Given the description of an element on the screen output the (x, y) to click on. 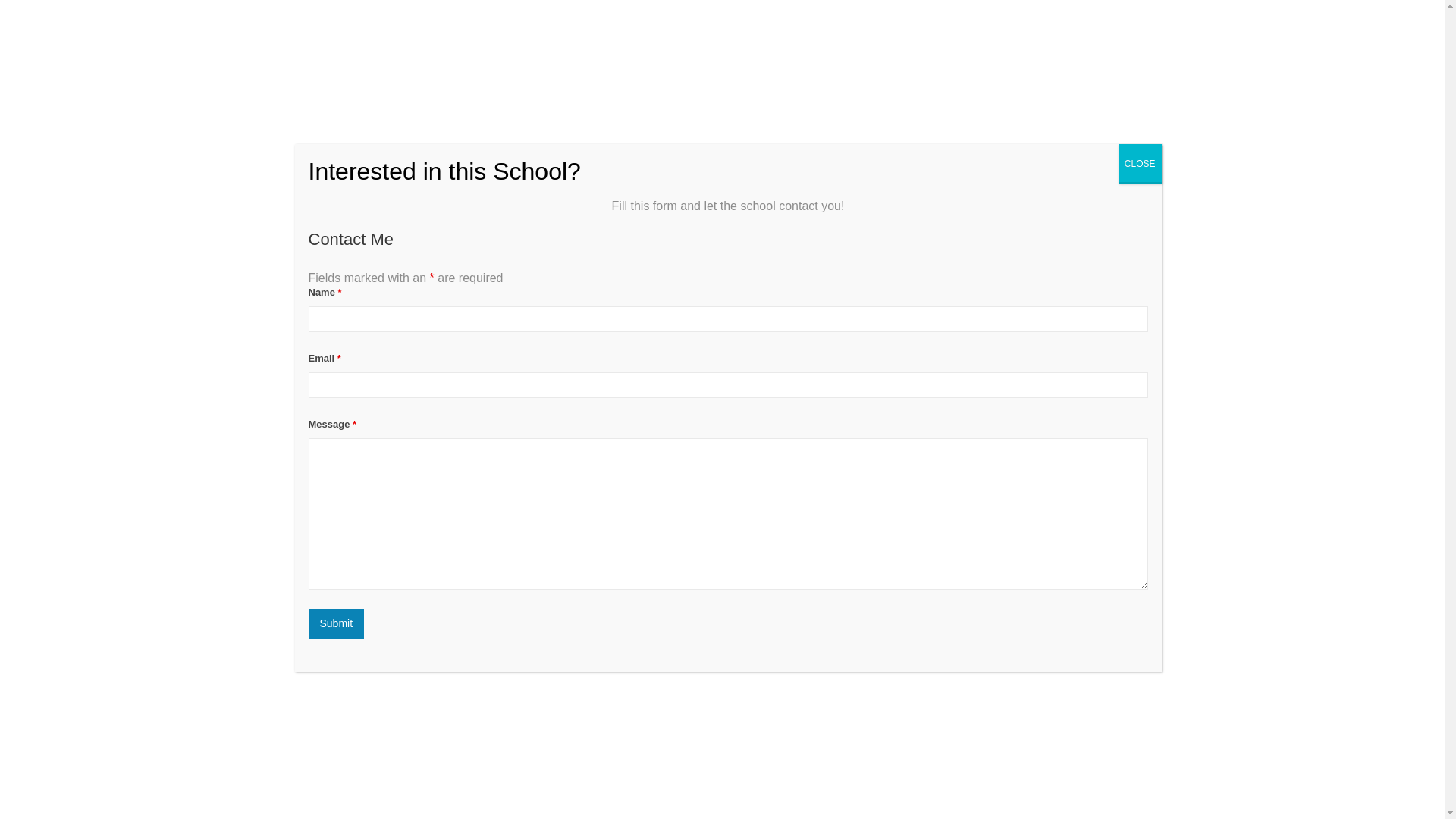
Submit (335, 624)
Share (1128, 390)
Seoul (377, 355)
South Korea (330, 355)
Share (1128, 390)
CONTACT (1118, 30)
Not rated yet! (307, 325)
BLOG (1061, 30)
Submit (335, 624)
MBA ACCREDITATIONS (967, 30)
CLOSE (1139, 163)
Description (308, 457)
Post New Review (402, 457)
MBA RANKINGS (852, 30)
MBA Reviews (357, 29)
